Given the description of an element on the screen output the (x, y) to click on. 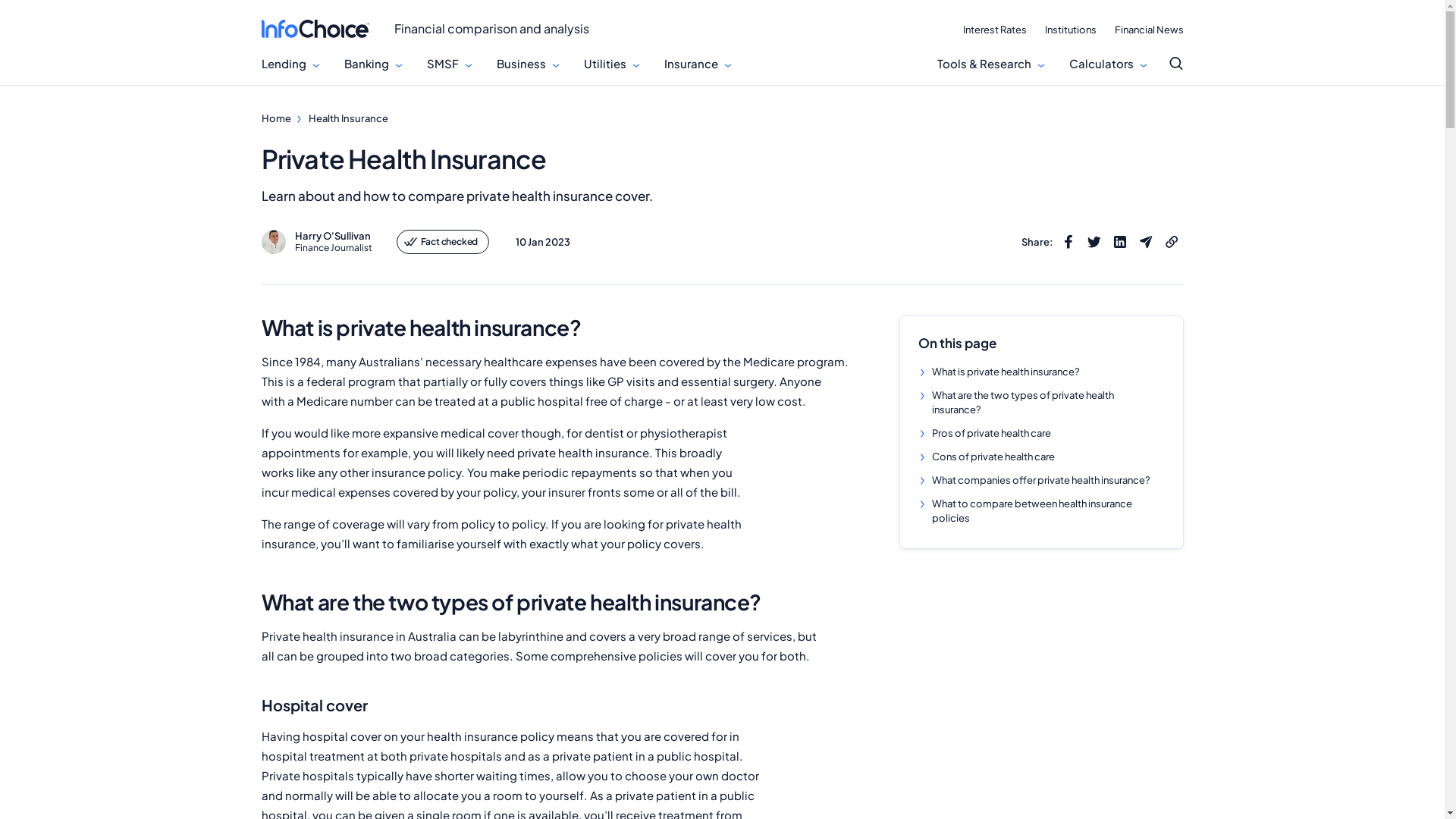
Health Insurance Element type: text (347, 118)
Business Element type: text (520, 63)
Insurance Element type: text (691, 63)
Calculators Element type: text (1101, 63)
SMSF Element type: text (442, 63)
What companies offer private health insurance? Element type: text (1040, 480)
Financial News Element type: text (1148, 29)
Cons of private health care Element type: text (992, 456)
What is private health insurance? Element type: text (1004, 371)
Share via Email Element type: hover (1144, 241)
Institutions Element type: text (1070, 29)
Utilities Element type: text (604, 63)
Harry O'Sullivan
Finance Journalist Element type: text (315, 241)
Pros of private health care Element type: text (990, 433)
Share on Twitter Element type: hover (1093, 241)
Share on Facebook Element type: hover (1067, 241)
Fact checked Element type: text (442, 241)
Interest Rates Element type: text (994, 29)
Banking Element type: text (366, 63)
Home Element type: text (275, 118)
Copy Link Element type: hover (1170, 241)
Share on LinkedIn Element type: hover (1119, 241)
What to compare between health insurance policies Element type: text (1040, 511)
What are the two types of private health insurance? Element type: text (1040, 402)
Lending Element type: text (282, 63)
Tools & Research Element type: text (984, 63)
